Given the description of an element on the screen output the (x, y) to click on. 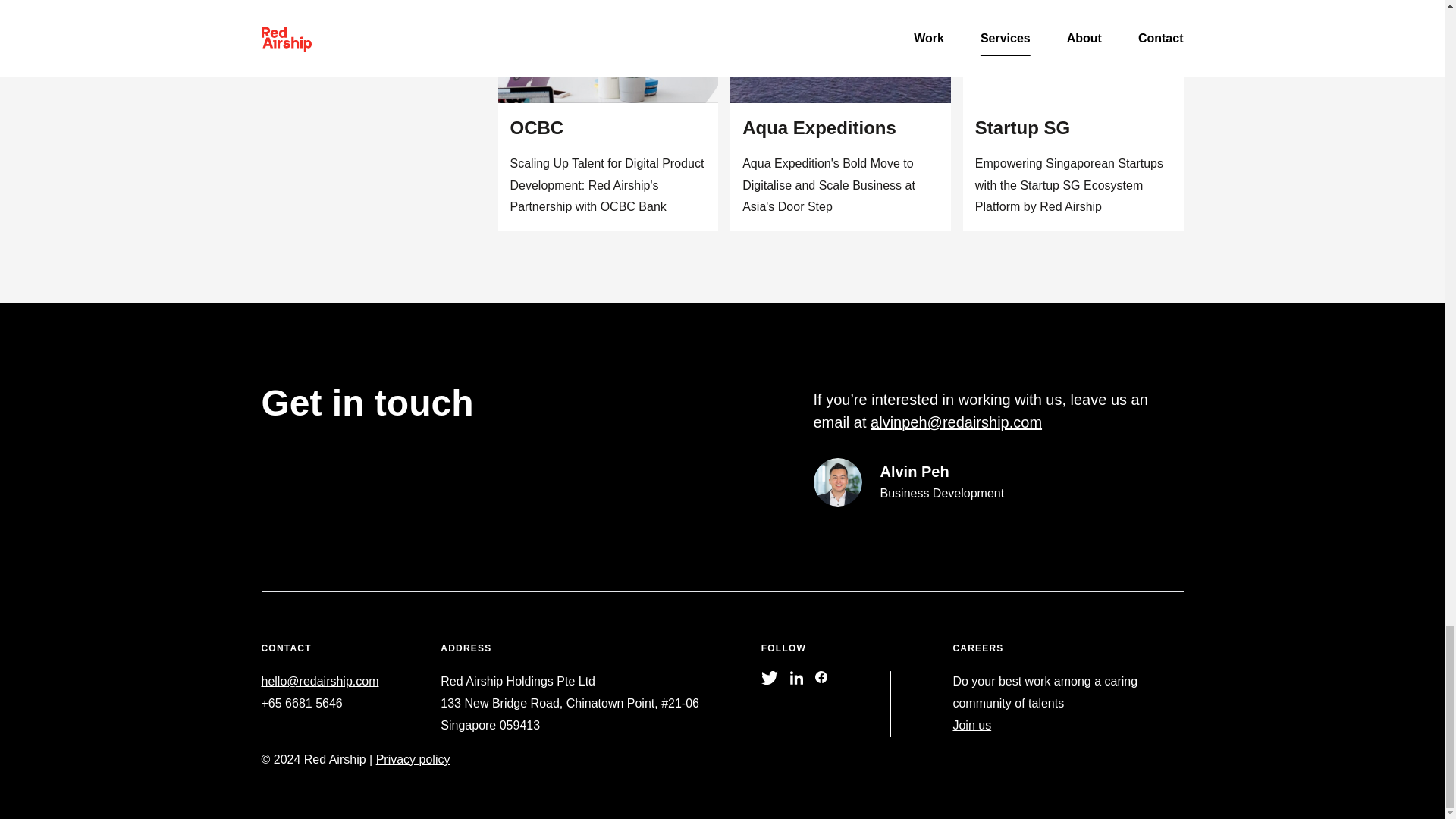
Facebook (821, 677)
Twitter (769, 677)
LinkedIn (796, 677)
